Given the description of an element on the screen output the (x, y) to click on. 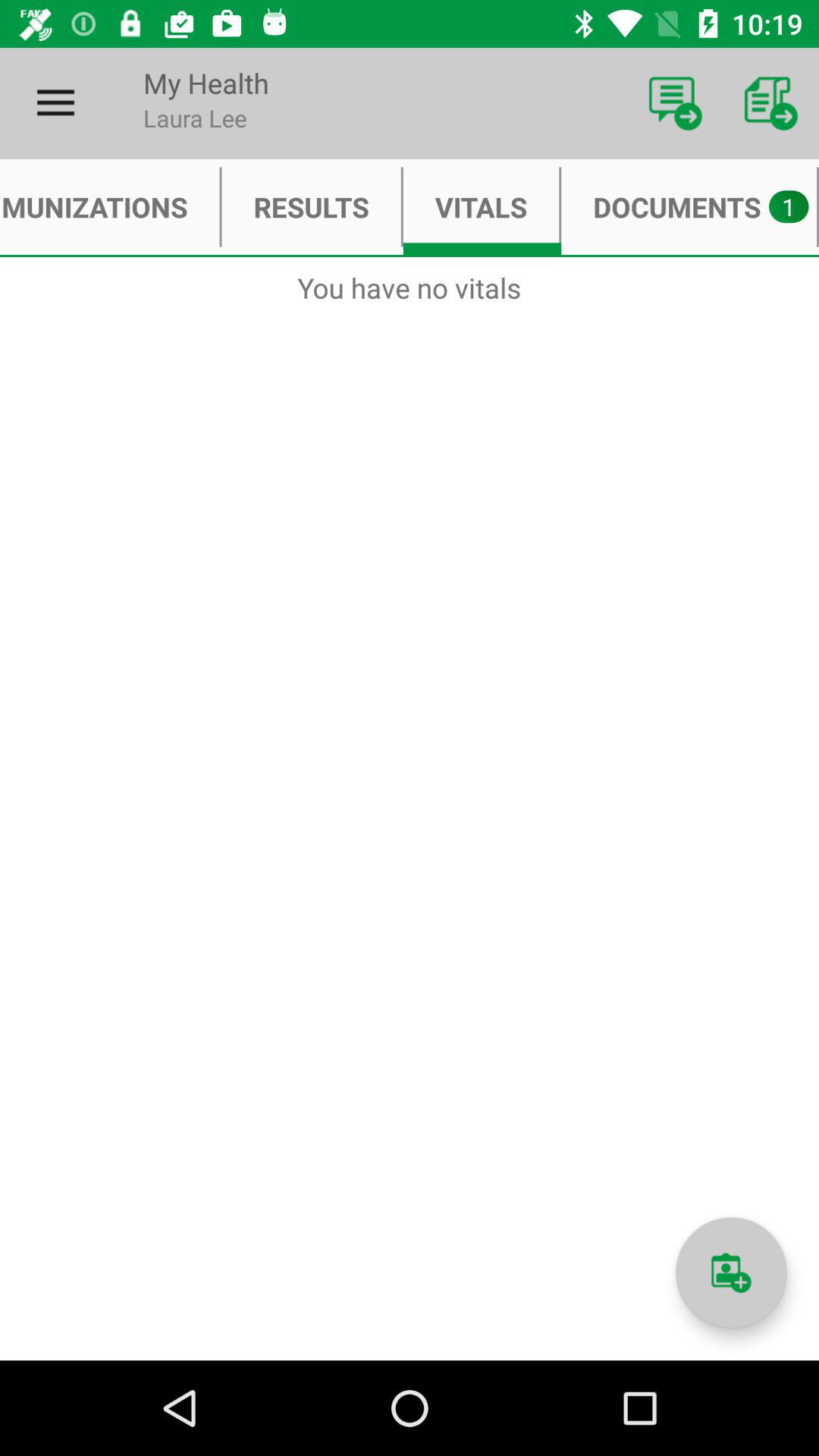
turn on icon above the documents item (675, 103)
